Given the description of an element on the screen output the (x, y) to click on. 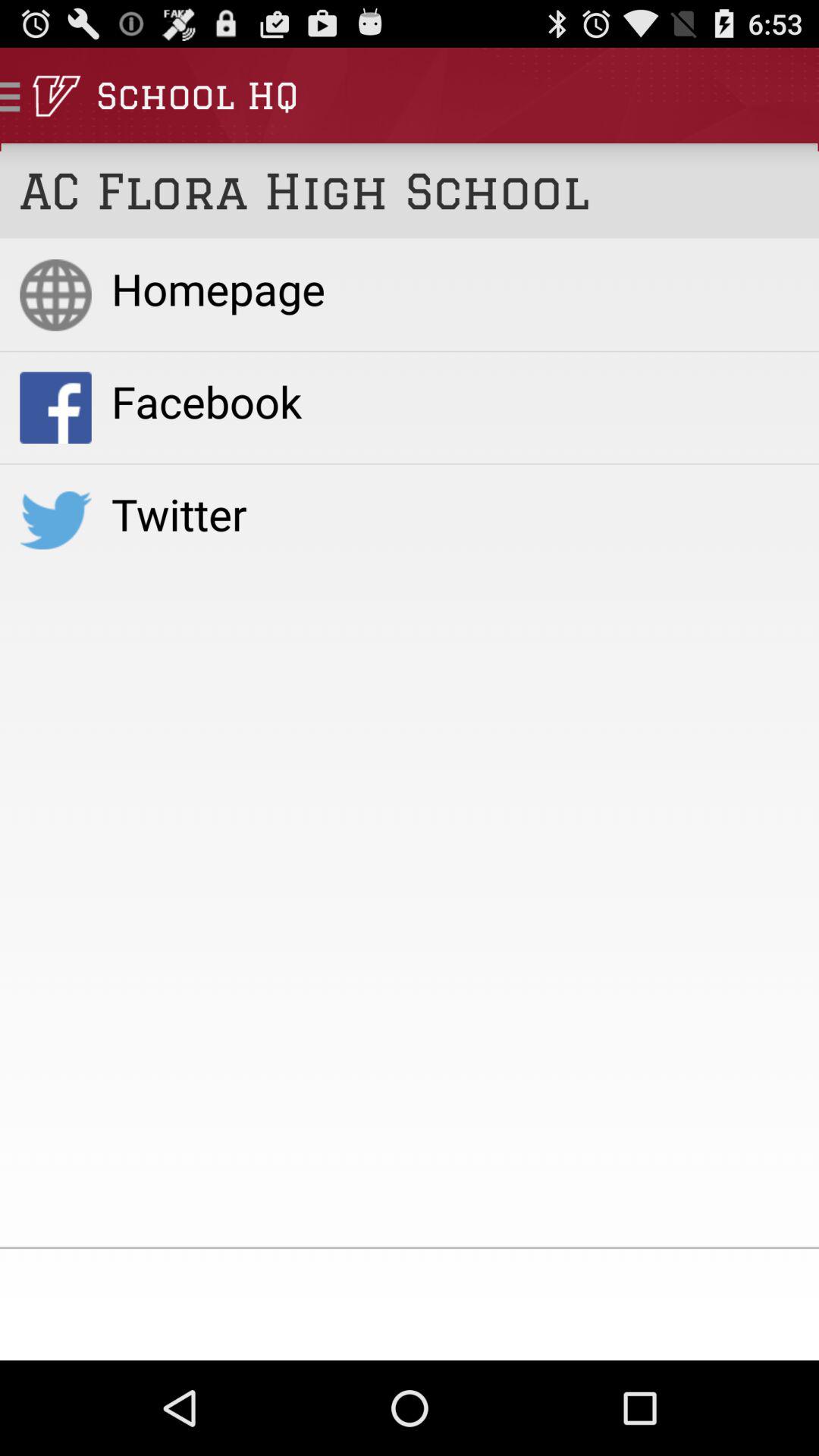
click homepage (455, 288)
